Given the description of an element on the screen output the (x, y) to click on. 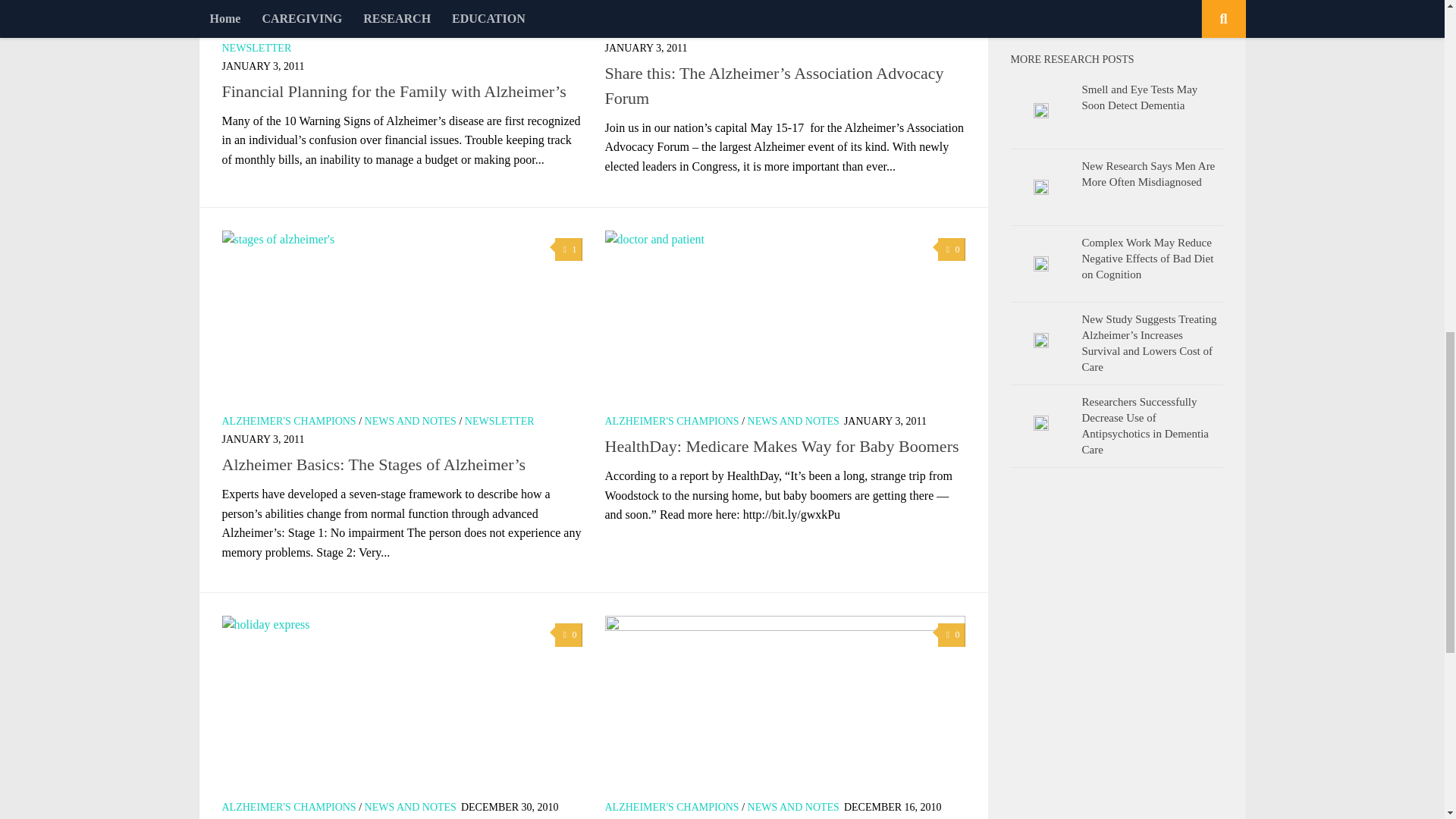
ALZHEIMER'S CHAMPIONS (672, 30)
NEWS AND NOTES (514, 30)
NEWSLETTER (256, 48)
ALZHEIMER'S AND DEMENTIA CAREGIVER TIPS (341, 30)
